Given the description of an element on the screen output the (x, y) to click on. 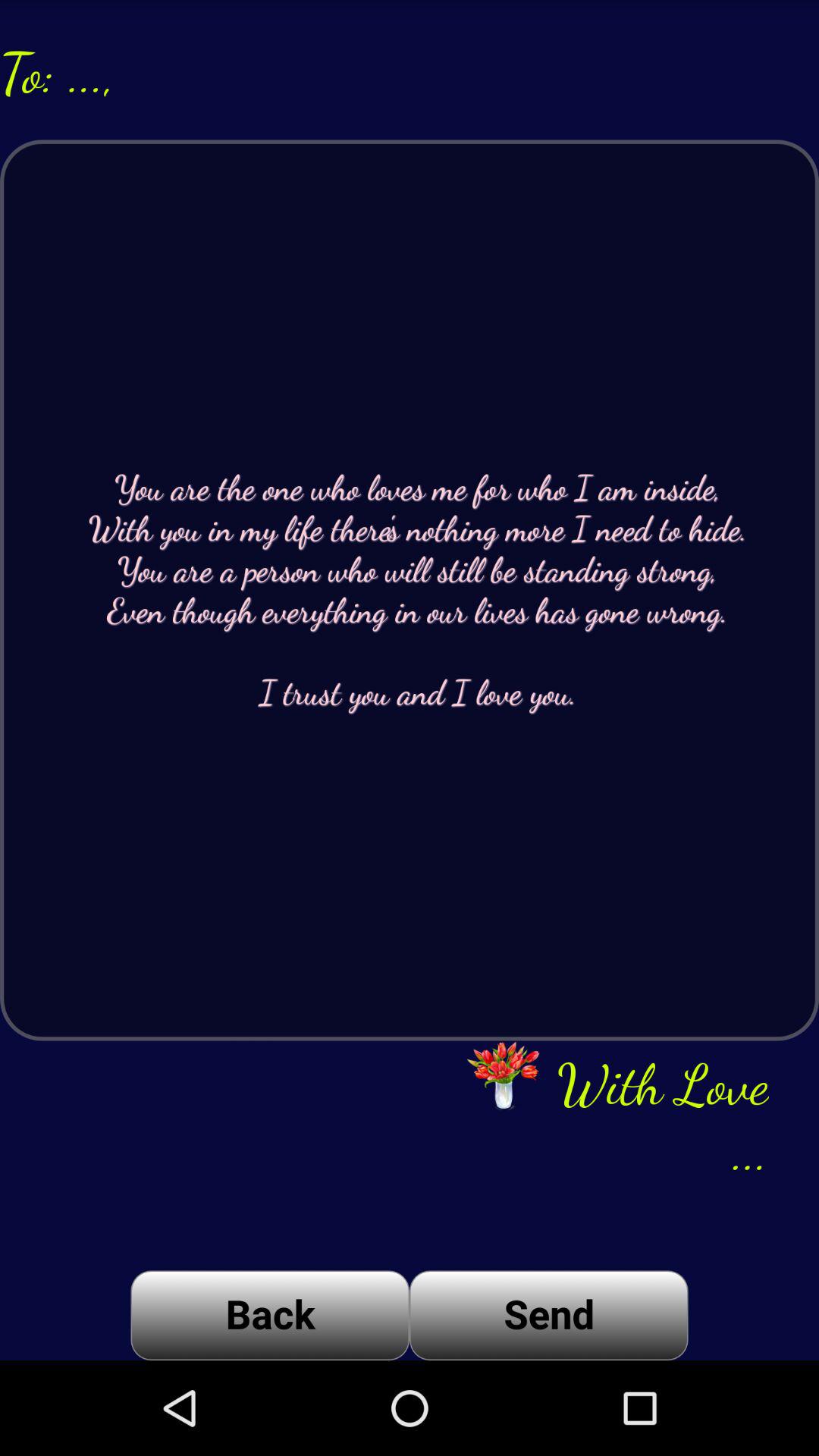
open the icon to the left of send icon (269, 1315)
